Given the description of an element on the screen output the (x, y) to click on. 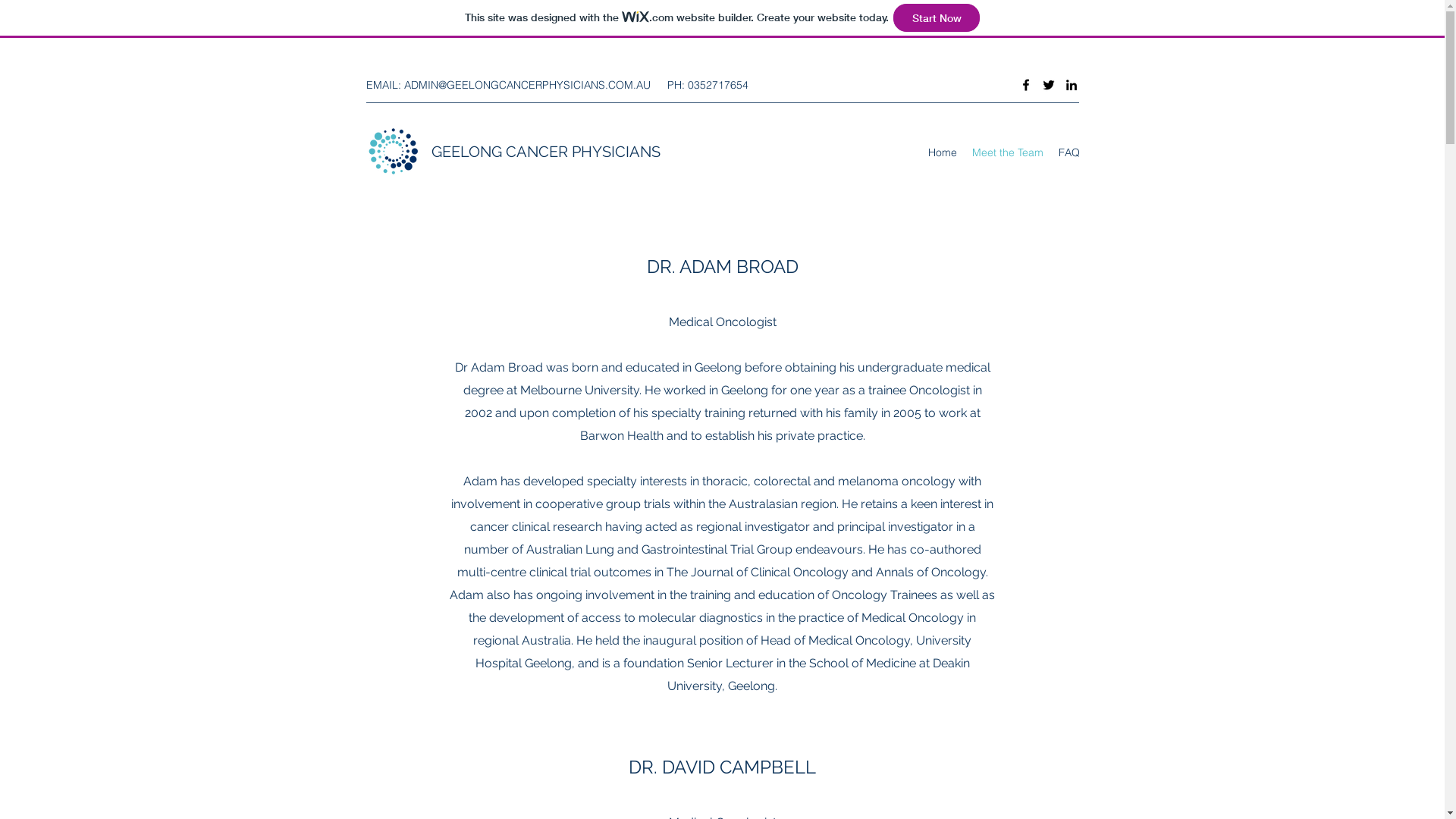
Home Element type: text (942, 152)
FAQ Element type: text (1069, 152)
Meet the Team Element type: text (1007, 152)
ADMIN@GEELONGCANCERPHYSICIANS.COM.AU Element type: text (526, 84)
